Given the description of an element on the screen output the (x, y) to click on. 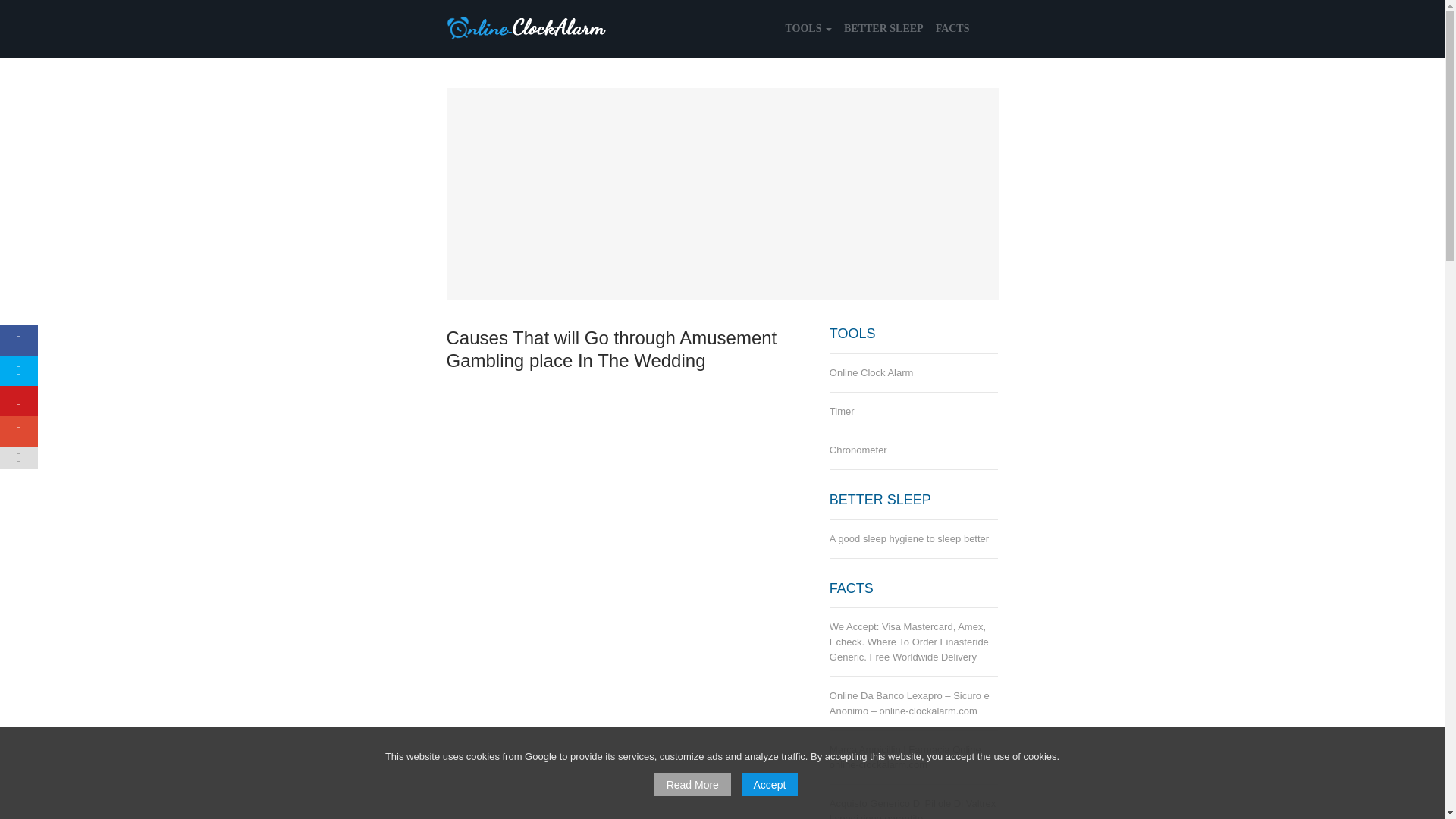
A good sleep hygiene to sleep better (913, 538)
BETTER SLEEP (884, 28)
Timer (913, 411)
Chronometer (913, 450)
Advertisement (721, 193)
Read More (691, 784)
Online-ClockAlarm (526, 27)
Accept (769, 784)
Advertisement (625, 729)
Better Sleep (884, 28)
TOOLS (808, 28)
Online Clock Alarm (913, 372)
Tools (808, 28)
